Given the description of an element on the screen output the (x, y) to click on. 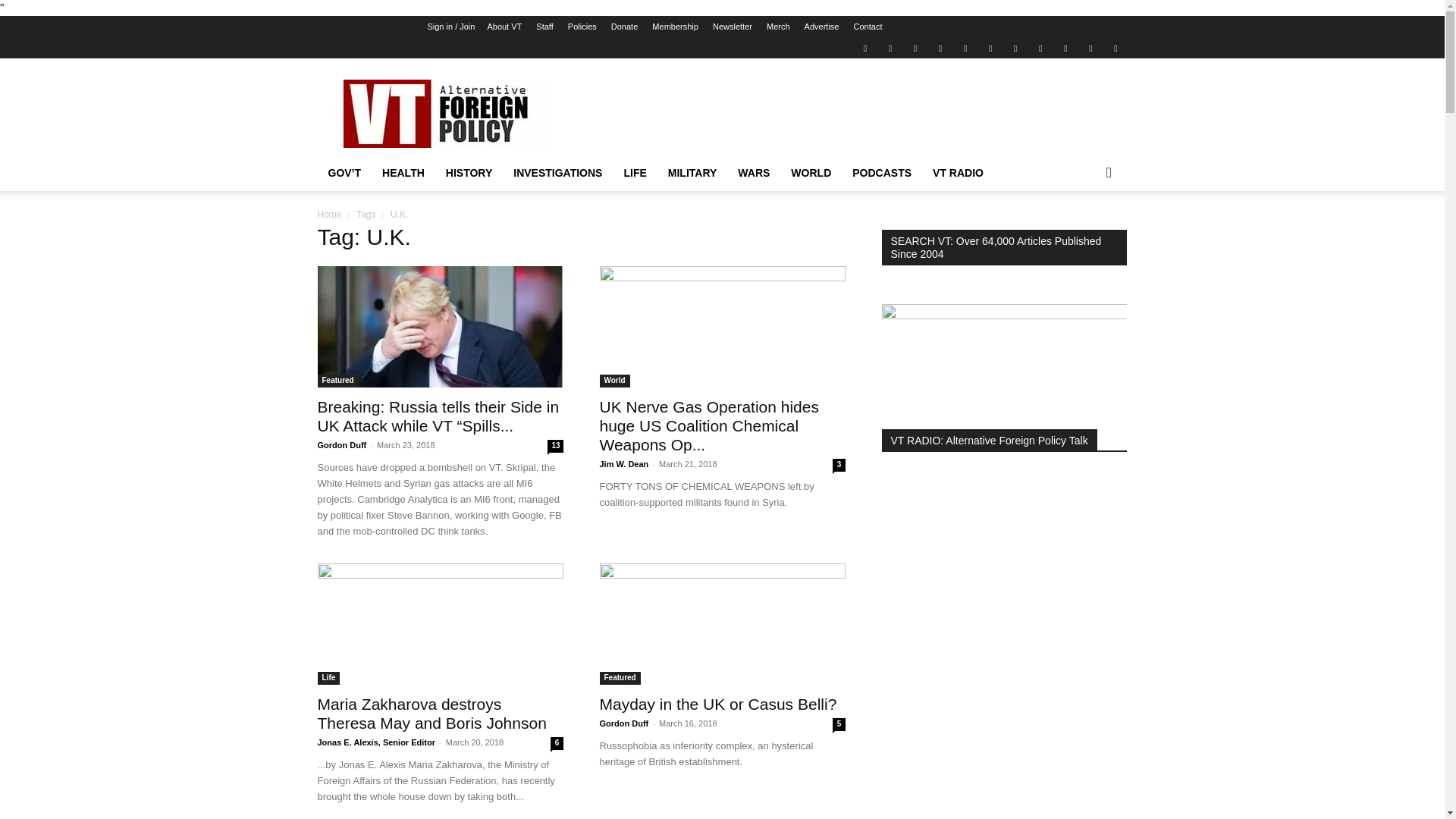
Donate (624, 26)
Blogger (864, 47)
Reddit (940, 47)
Mail (915, 47)
Facebook (890, 47)
Membership (675, 26)
Rumble (964, 47)
Advertise (822, 26)
Contact (867, 26)
Policies (581, 26)
Newsletter (732, 26)
Merch (778, 26)
About VT (503, 26)
Staff (544, 26)
